Given the description of an element on the screen output the (x, y) to click on. 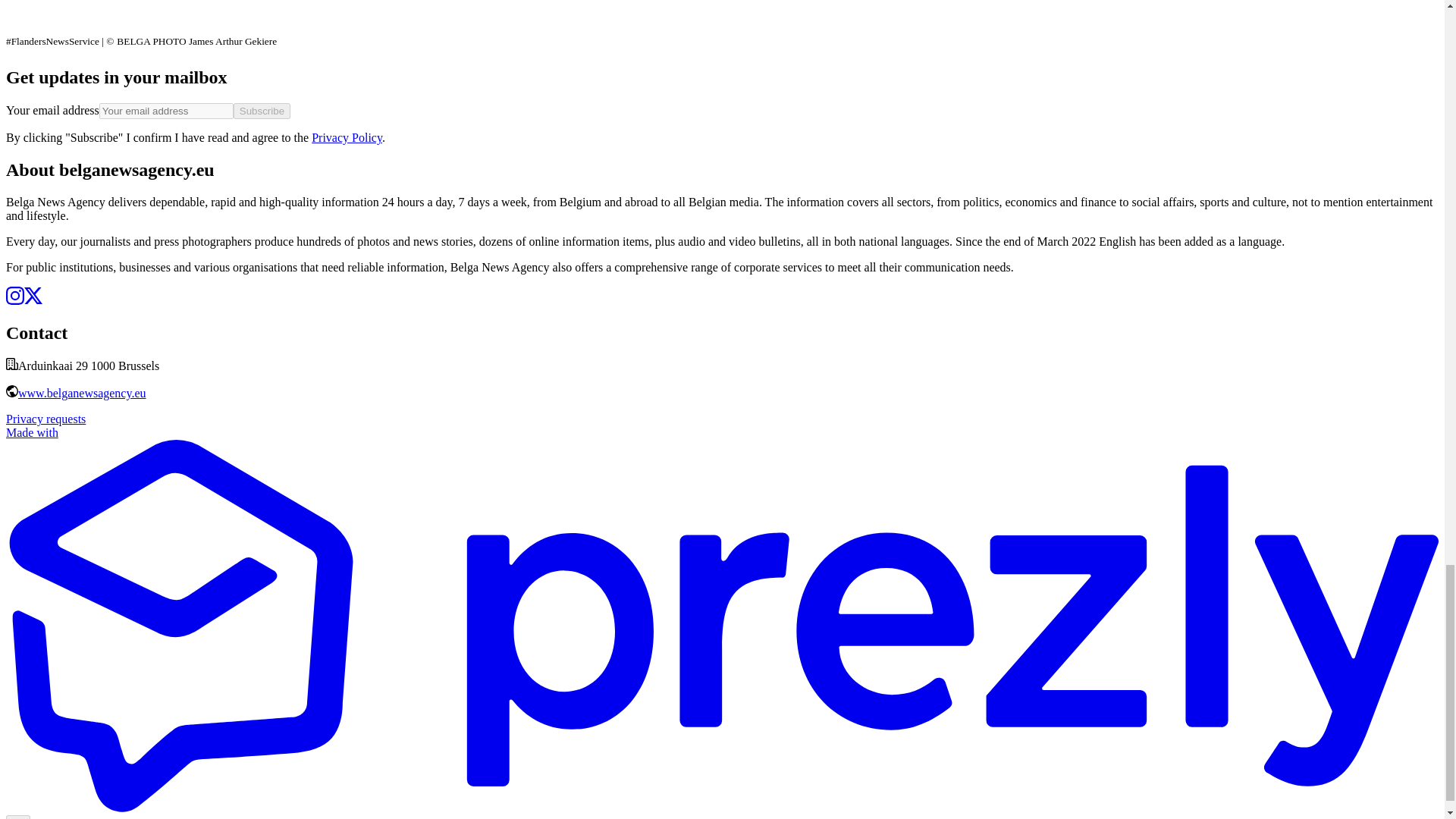
X (33, 300)
Privacy requests (45, 418)
Privacy Policy (346, 137)
Subscribe (260, 110)
www.belganewsagency.eu (82, 392)
Instagram (14, 300)
